Given the description of an element on the screen output the (x, y) to click on. 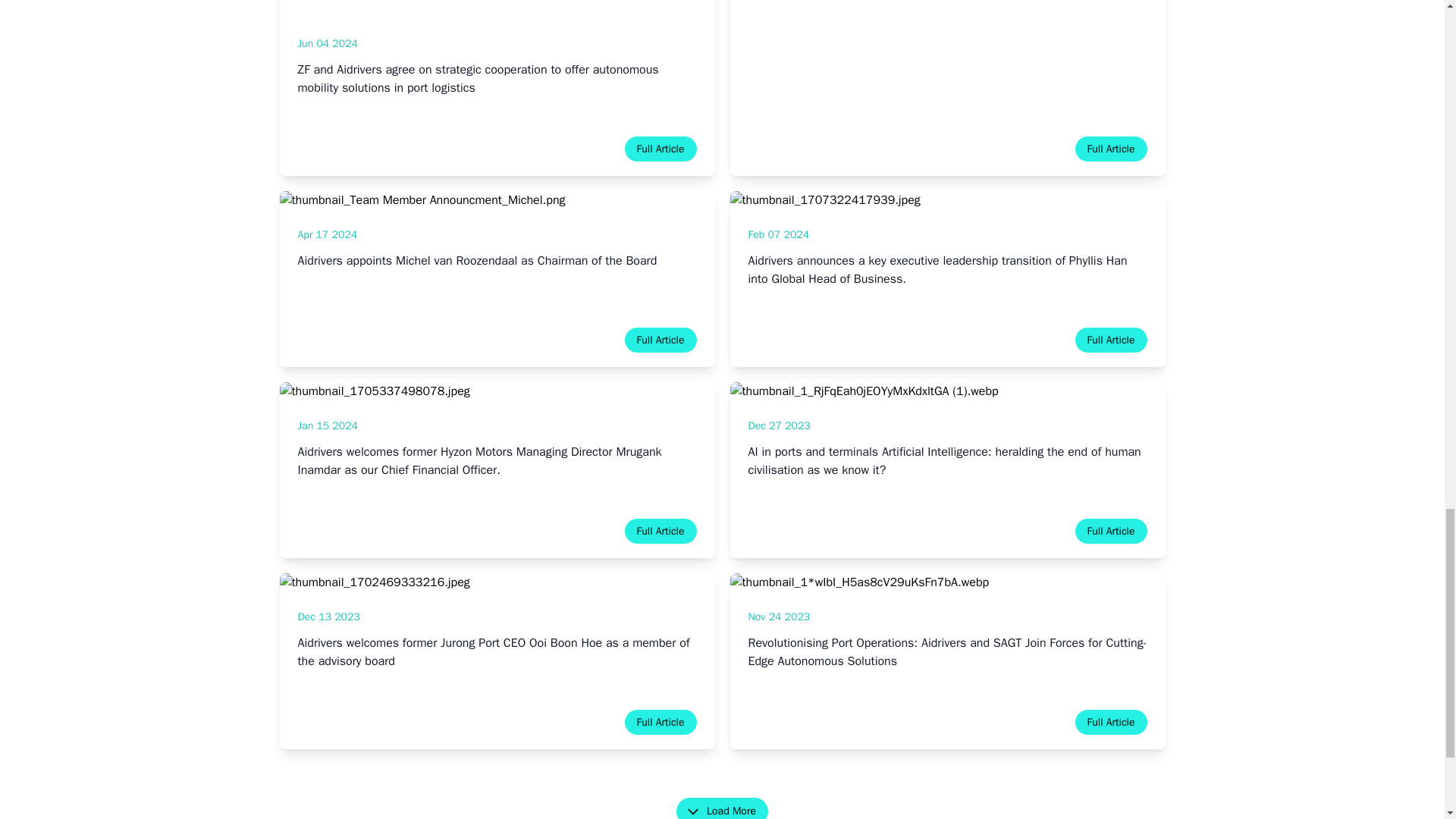
Full Article (1111, 530)
Full Article (1111, 339)
Load More (722, 808)
Full Article (660, 148)
Full Article (1111, 148)
Full Article (660, 530)
Full Article (660, 722)
Full Article (660, 339)
Full Article (1111, 722)
